Given the description of an element on the screen output the (x, y) to click on. 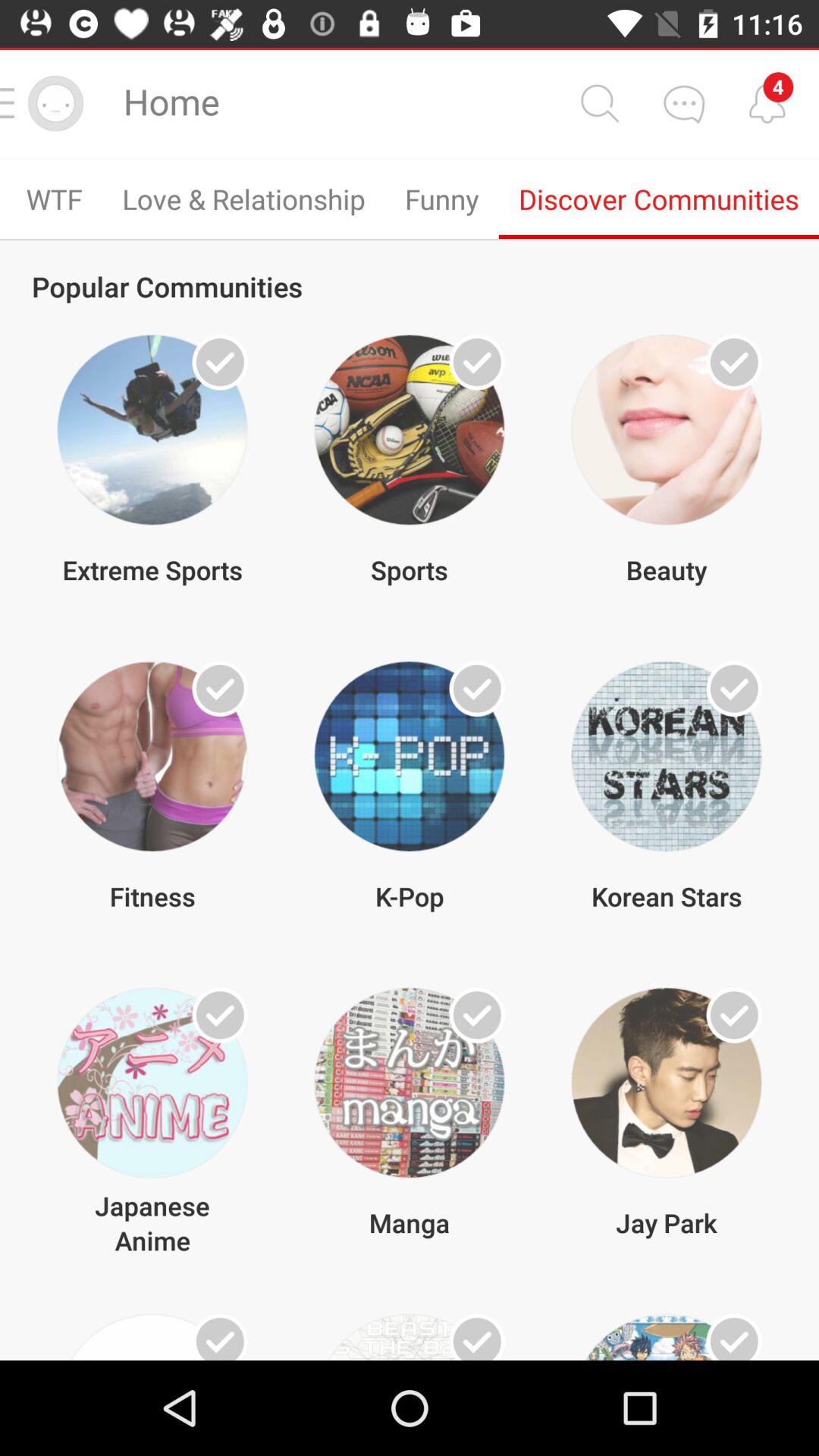
add extreme communities (219, 362)
